Given the description of an element on the screen output the (x, y) to click on. 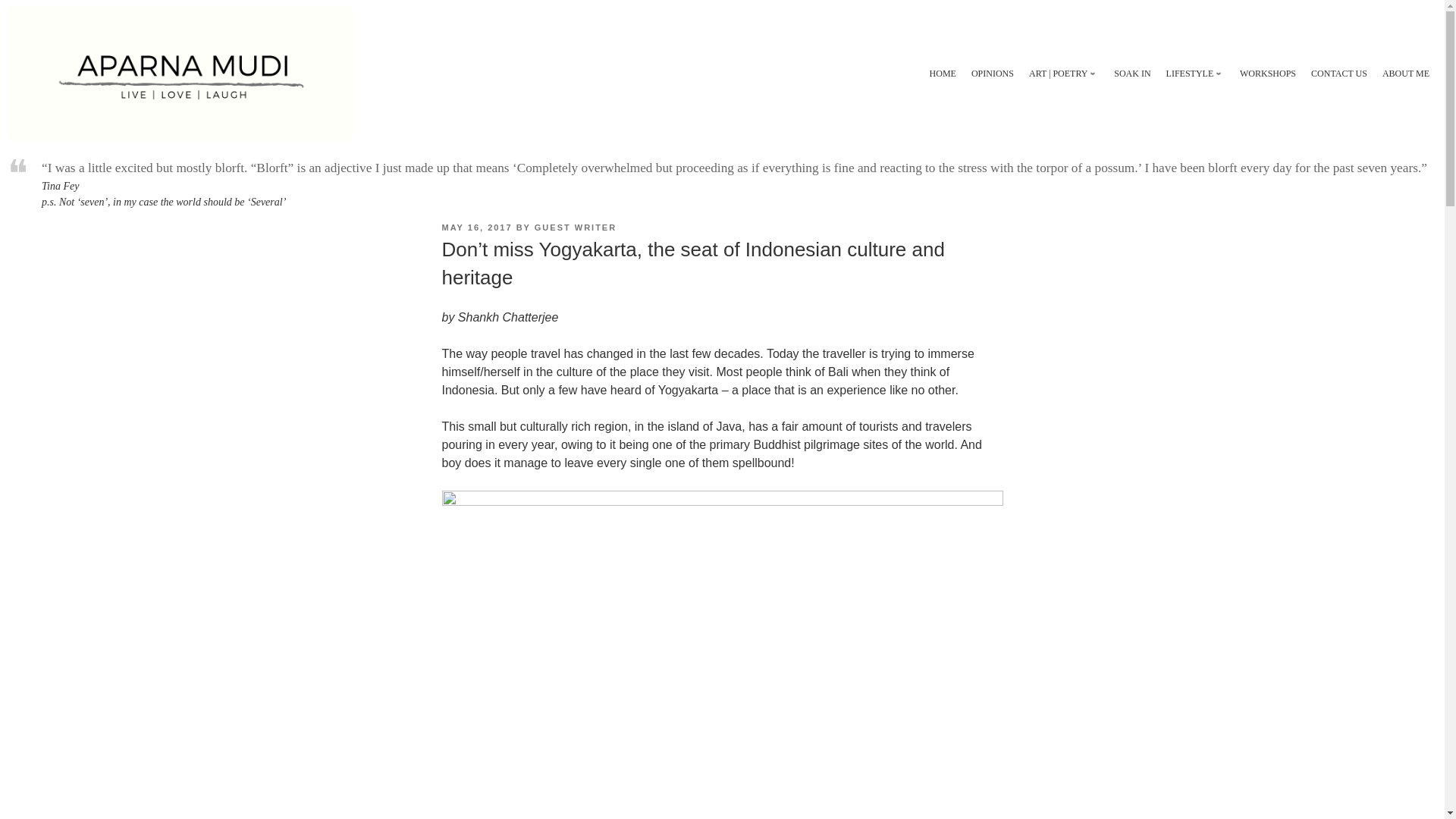
LIFESTYLE (1194, 73)
SOAK IN (1131, 73)
GUEST WRITER (574, 226)
CONTACT US (1339, 73)
WORKSHOPS (1268, 73)
MAY 16, 2017 (476, 226)
Highlight your personality. (180, 72)
ABOUT ME (1405, 73)
OPINIONS (992, 73)
